Given the description of an element on the screen output the (x, y) to click on. 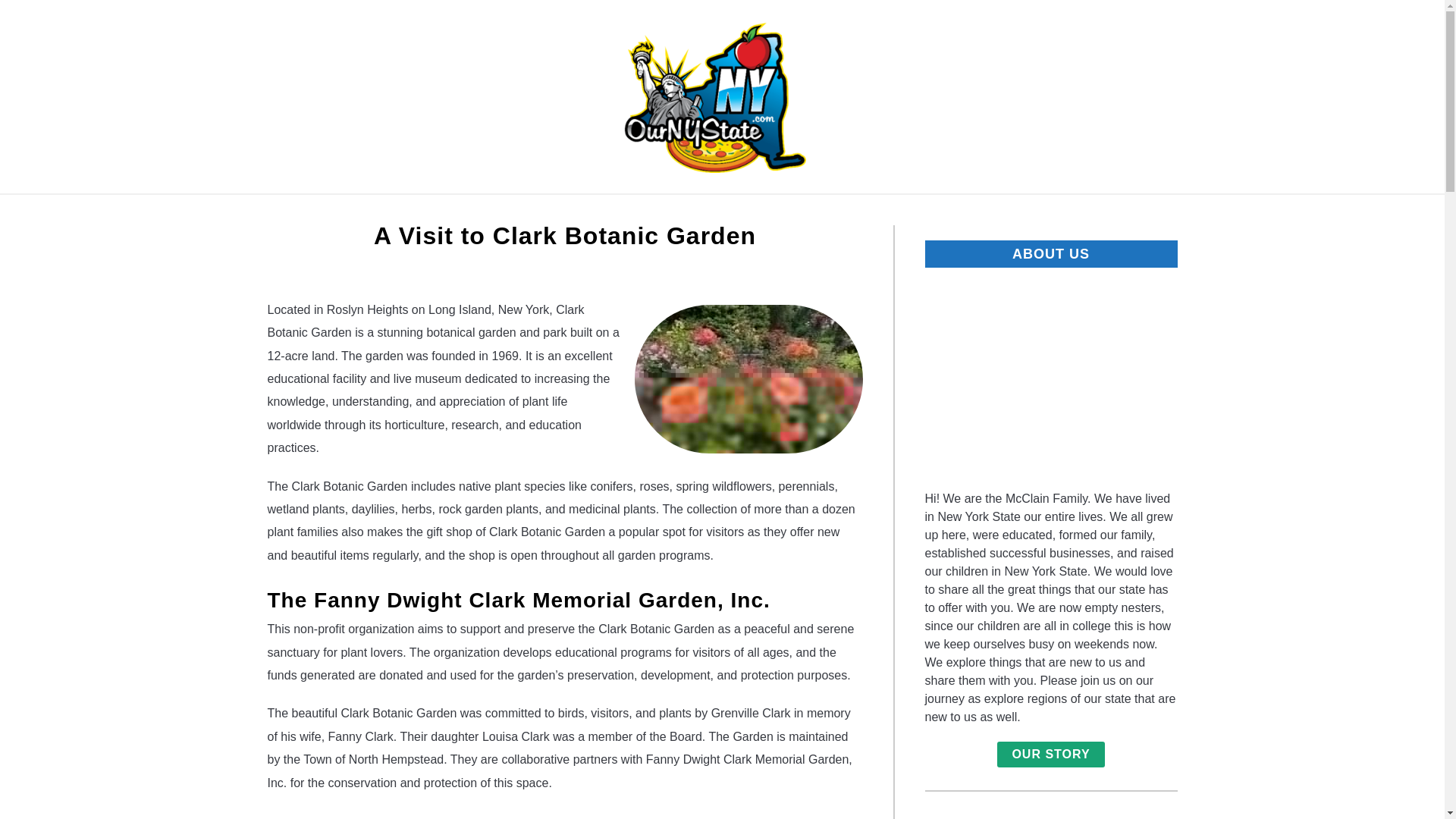
FOOD AND DRINK (769, 212)
PLACES (647, 212)
Search (1203, 96)
CULTURE (894, 212)
THINGS TO DO (535, 212)
NATURE (423, 212)
